Given the description of an element on the screen output the (x, y) to click on. 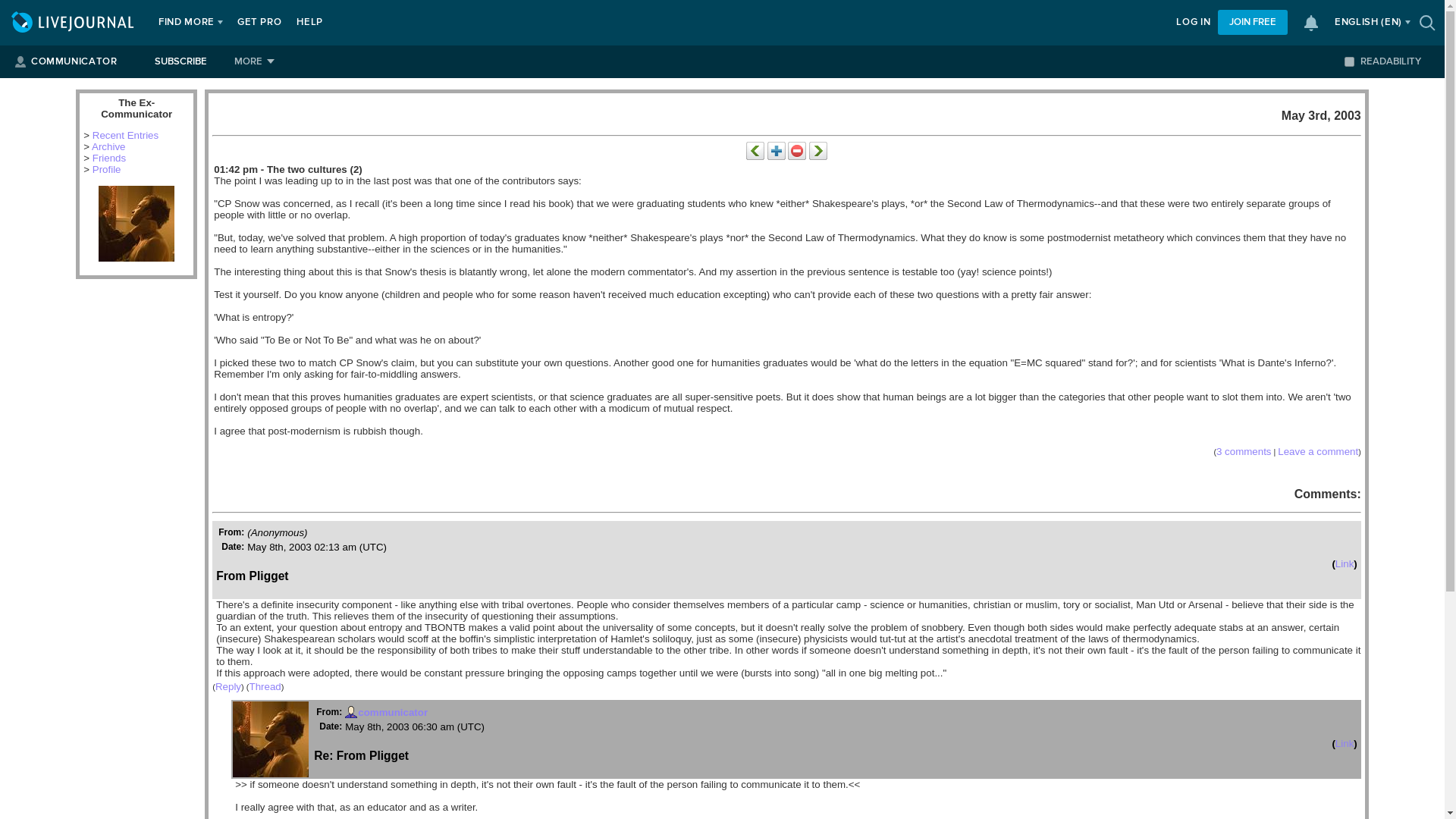
JOIN FREE (1252, 22)
FIND MORE (186, 22)
Flag (796, 150)
on (1348, 61)
GET PRO (259, 22)
Previous Entry (754, 150)
LIVEJOURNAL (73, 22)
COMMUNICATOR (73, 61)
SUBSCRIBE (180, 61)
HELP (309, 22)
